Given the description of an element on the screen output the (x, y) to click on. 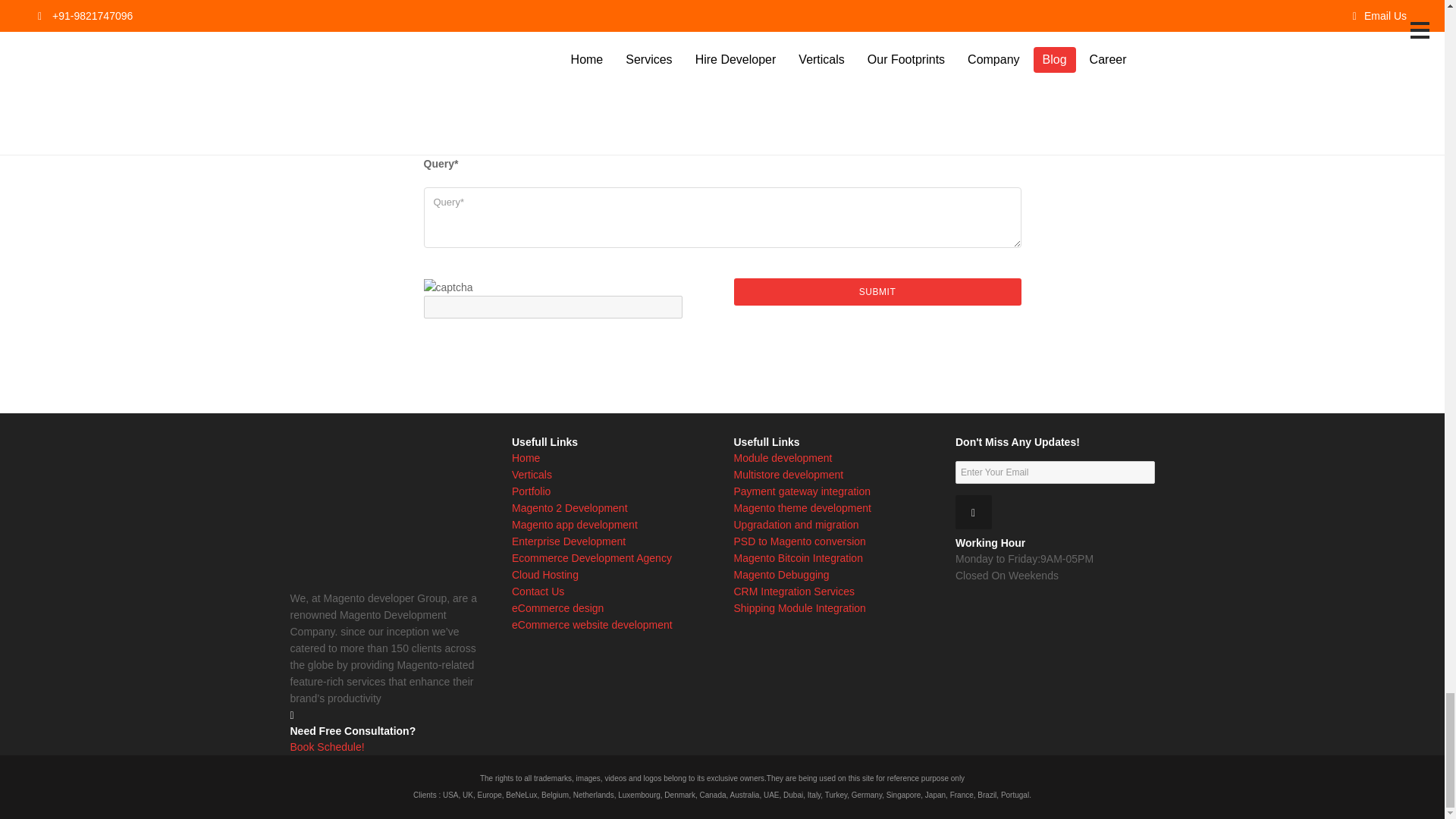
Submit (877, 291)
